Given the description of an element on the screen output the (x, y) to click on. 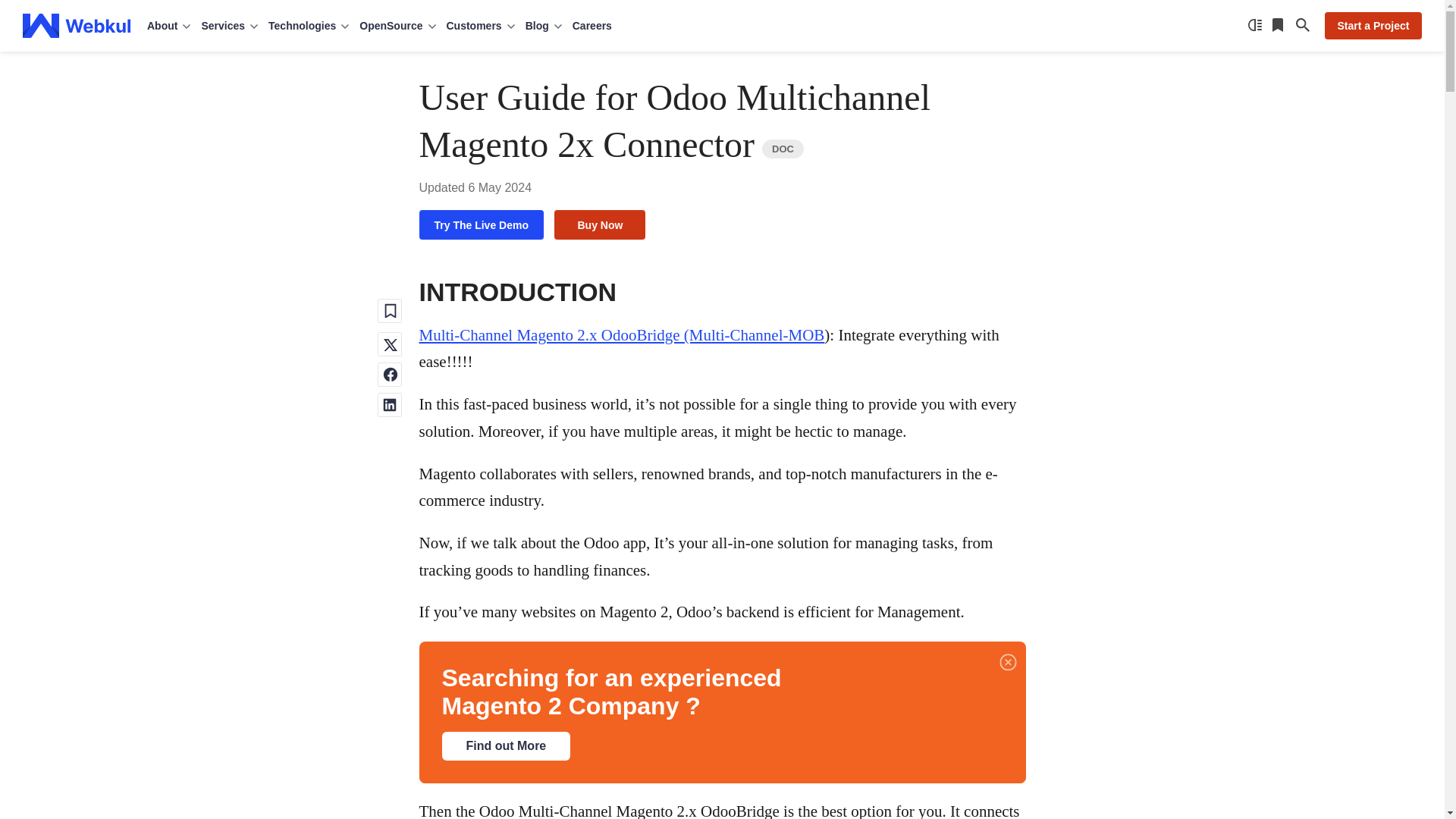
About (169, 25)
Services (229, 25)
